Given the description of an element on the screen output the (x, y) to click on. 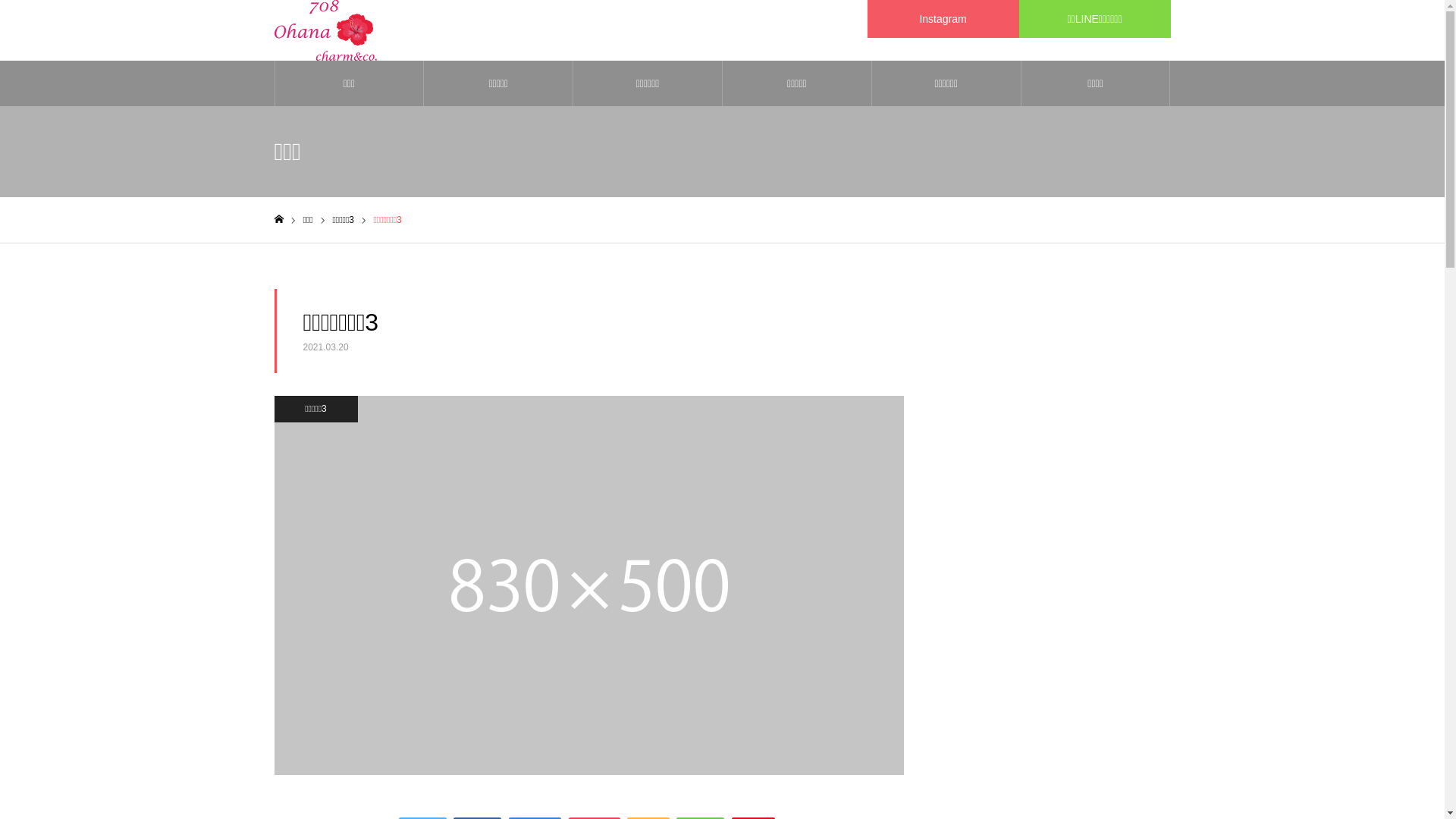
Instagram Element type: text (943, 18)
